Given the description of an element on the screen output the (x, y) to click on. 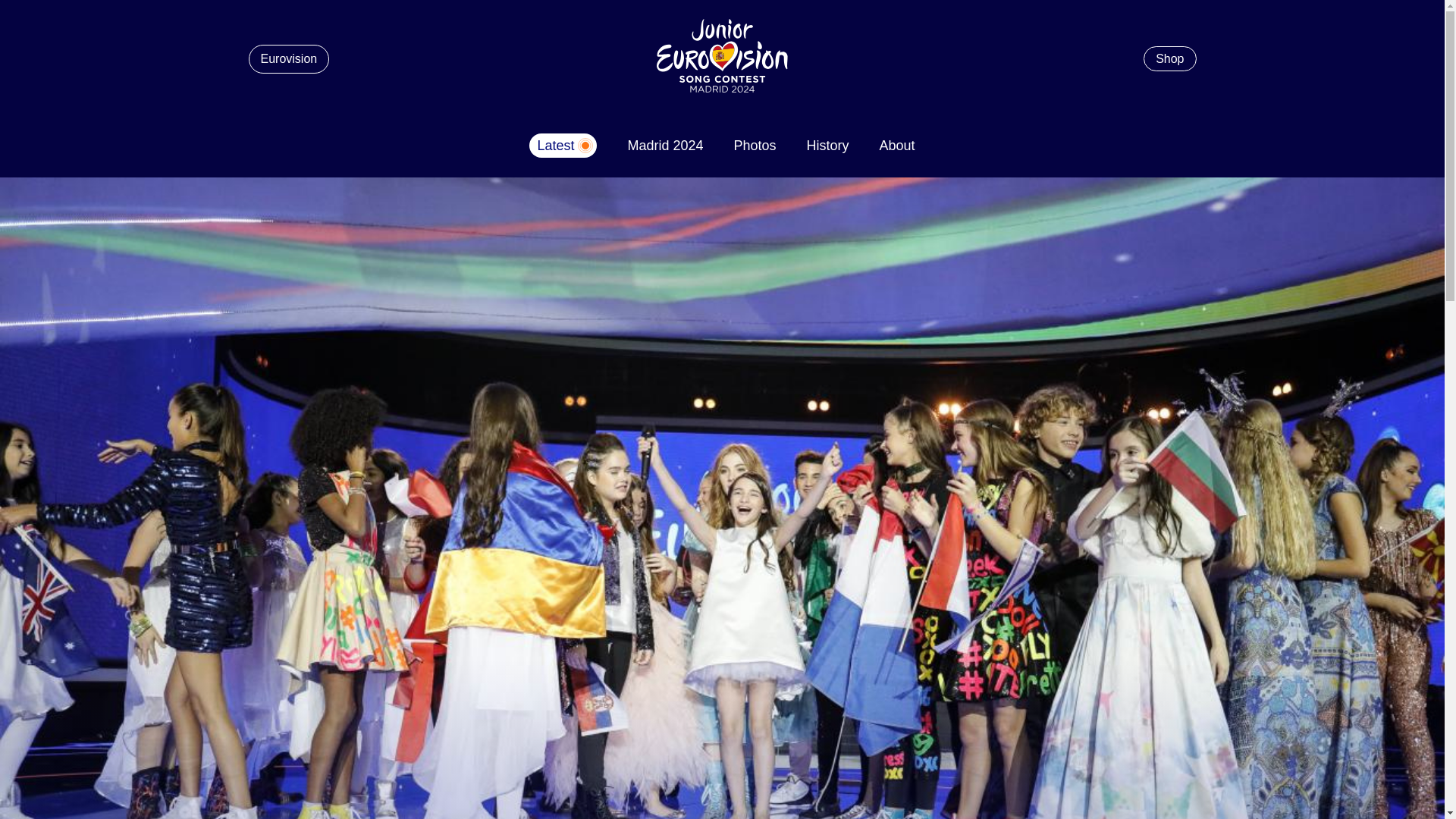
Search (1092, 97)
Eurovision (289, 59)
Latest (562, 145)
Photos (754, 143)
Photos (754, 143)
Shop (1168, 58)
